Given the description of an element on the screen output the (x, y) to click on. 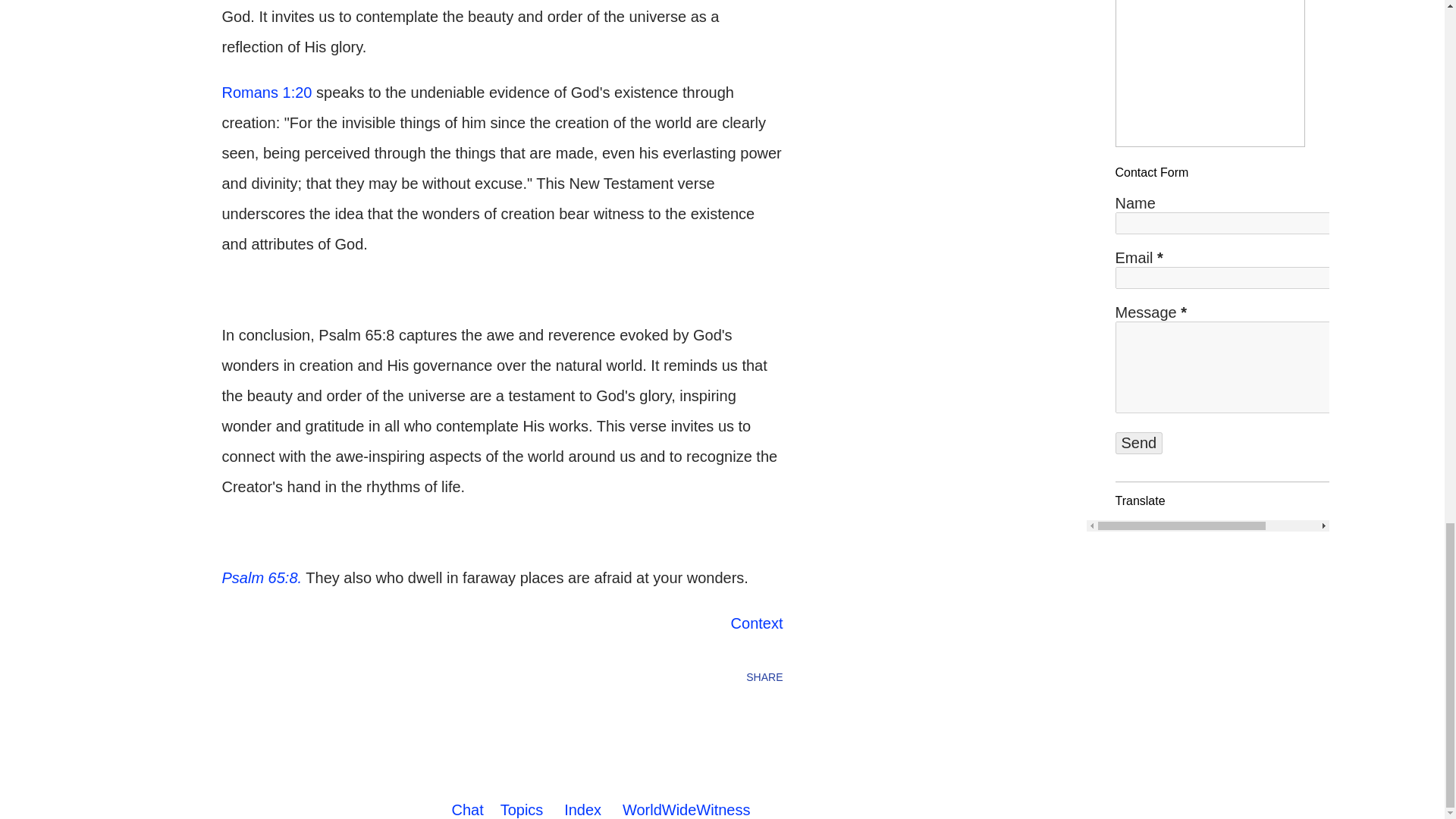
Romans 1:20 (266, 92)
Email Post (230, 676)
Psalm 65:8. (261, 577)
Send (1138, 443)
Context (756, 623)
SHARE (764, 677)
Topics (521, 809)
WorldWideWitness (687, 809)
Index (582, 809)
Chat (467, 809)
